Given the description of an element on the screen output the (x, y) to click on. 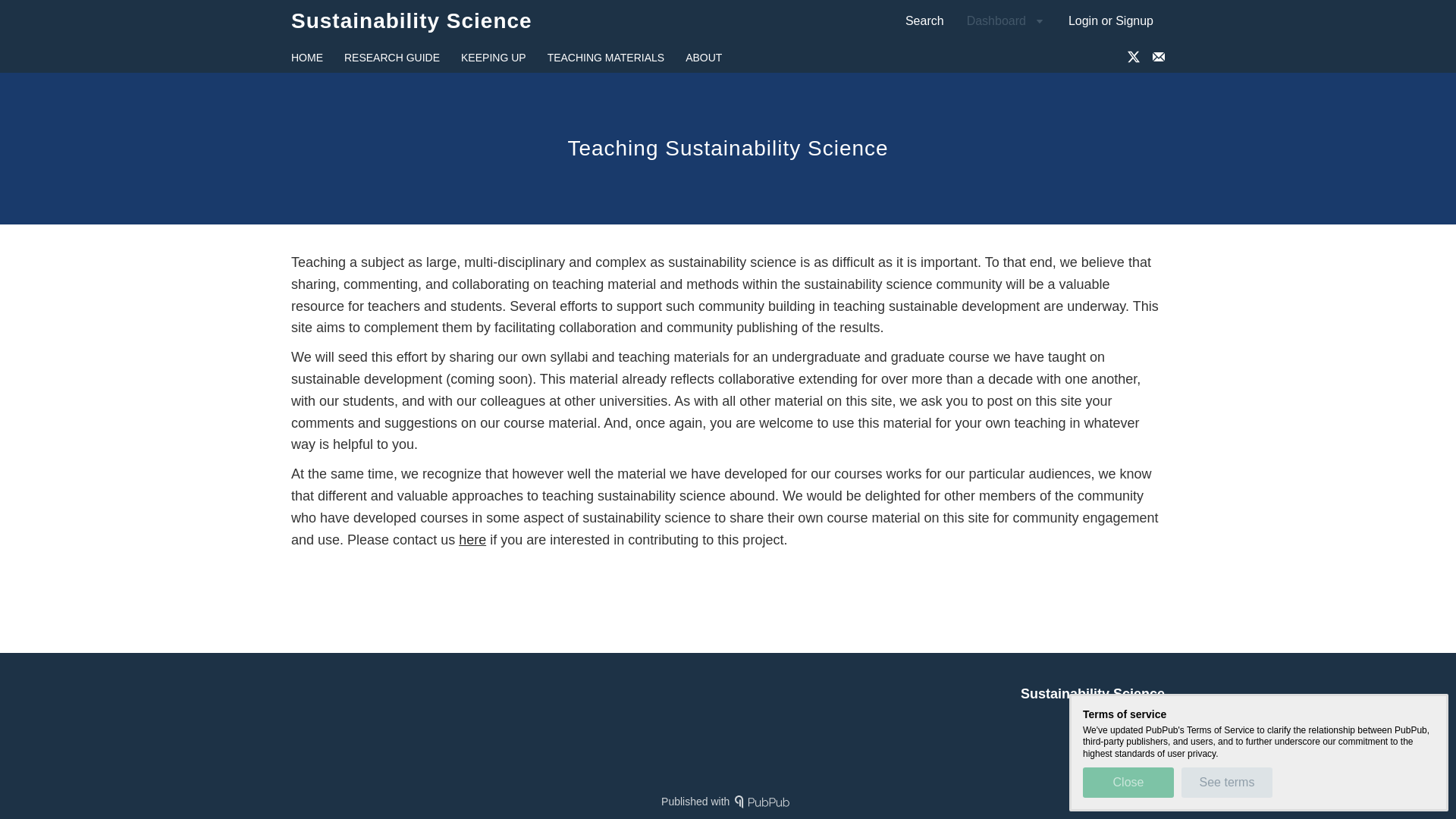
RSS (1108, 720)
Search (924, 20)
Close (1128, 782)
KEEPING UP (493, 57)
Sustainability Science (702, 82)
Dashboard (411, 20)
RESEARCH GUIDE (1006, 20)
Login or Signup (391, 57)
See terms (1110, 20)
